Given the description of an element on the screen output the (x, y) to click on. 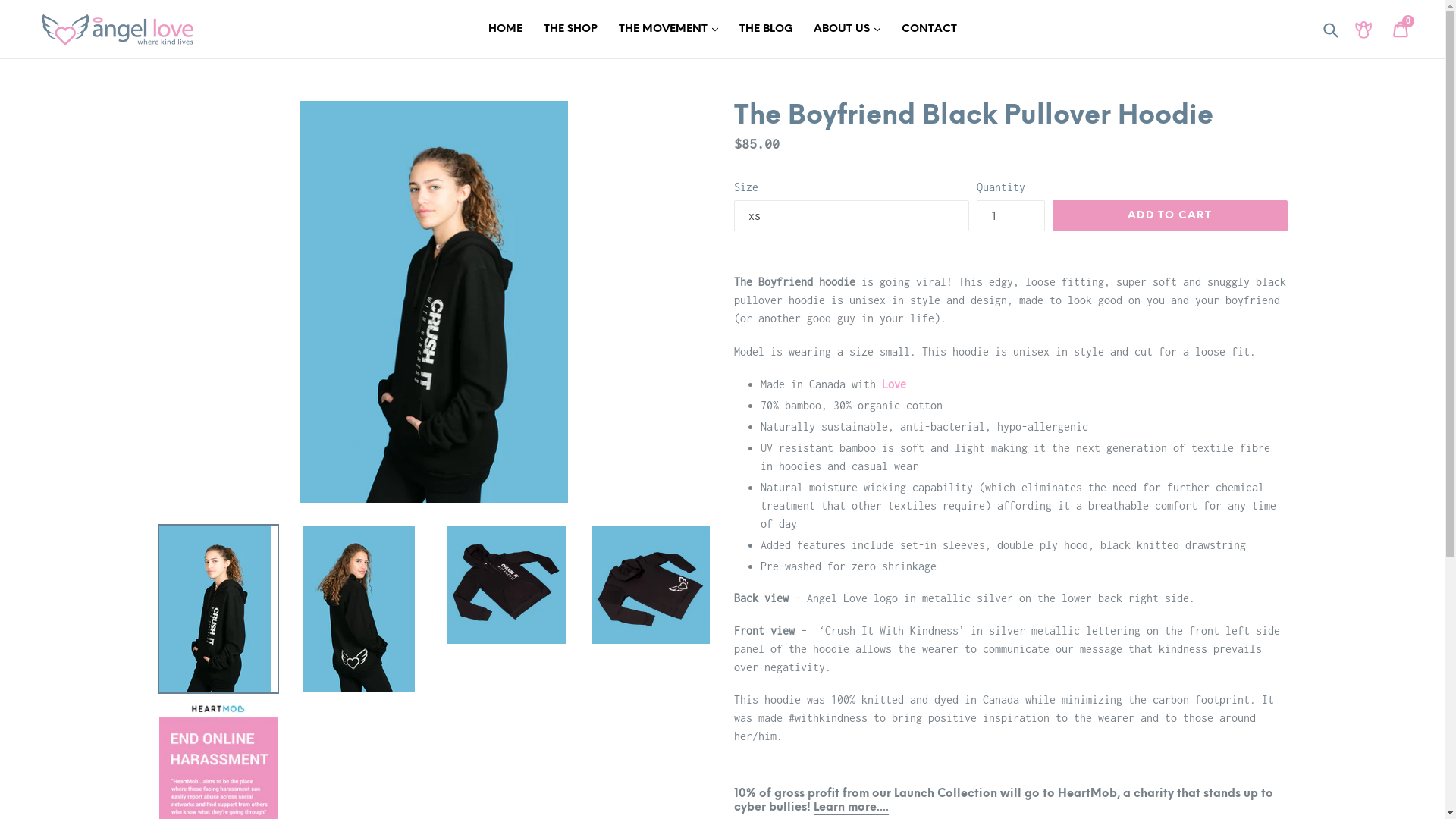
Learn more.... Element type: text (850, 808)
THE BLOG Element type: text (765, 28)
THE SHOP Element type: text (569, 28)
CONTACT Element type: text (928, 28)
Cart
Cart
0 Element type: text (1401, 29)
HOME Element type: text (505, 28)
Submit Element type: text (1329, 28)
Log in Element type: text (1363, 28)
ADD TO CART Element type: text (1169, 216)
